Given the description of an element on the screen output the (x, y) to click on. 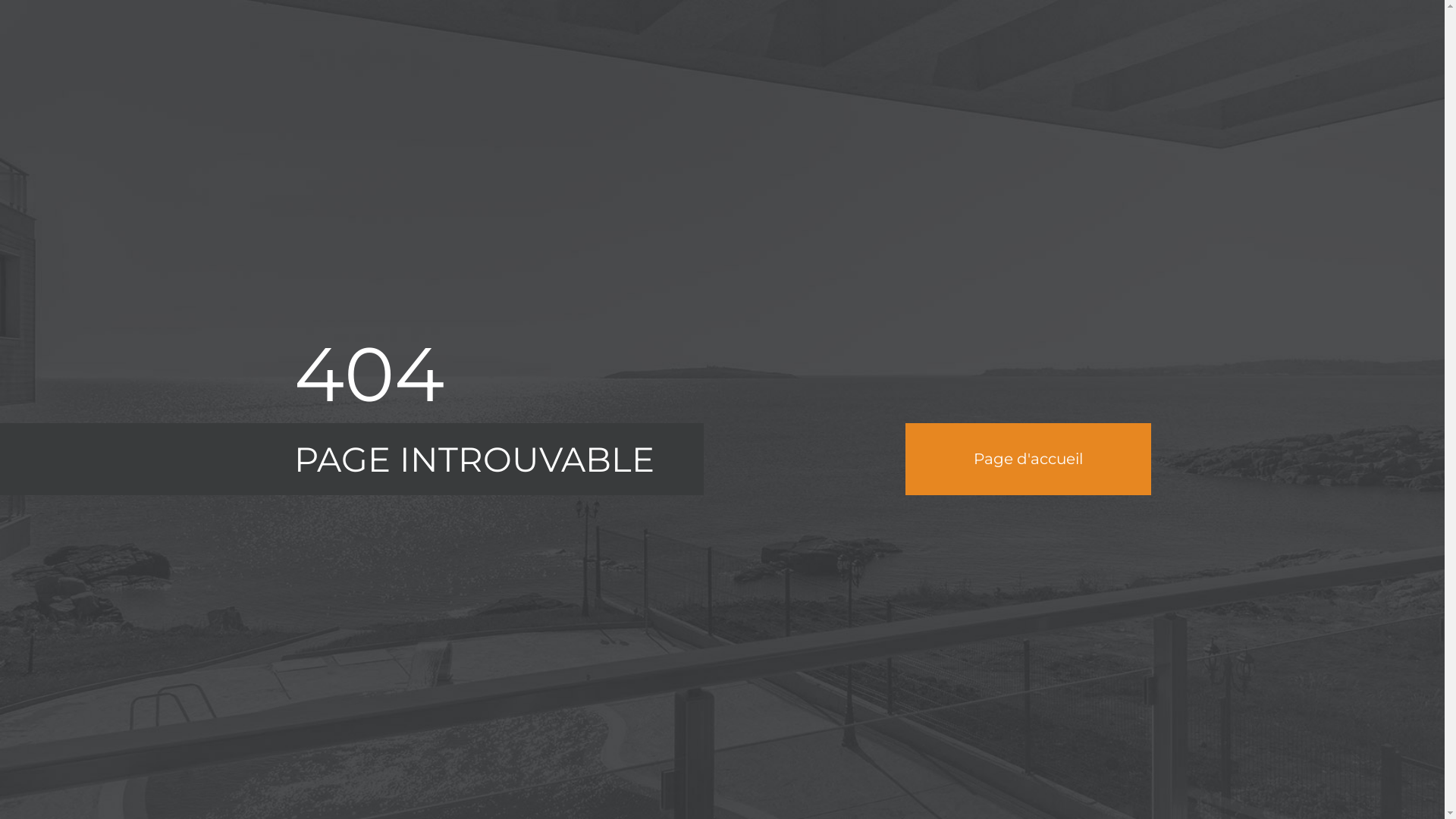
Page d'accueil Element type: text (1028, 459)
